Given the description of an element on the screen output the (x, y) to click on. 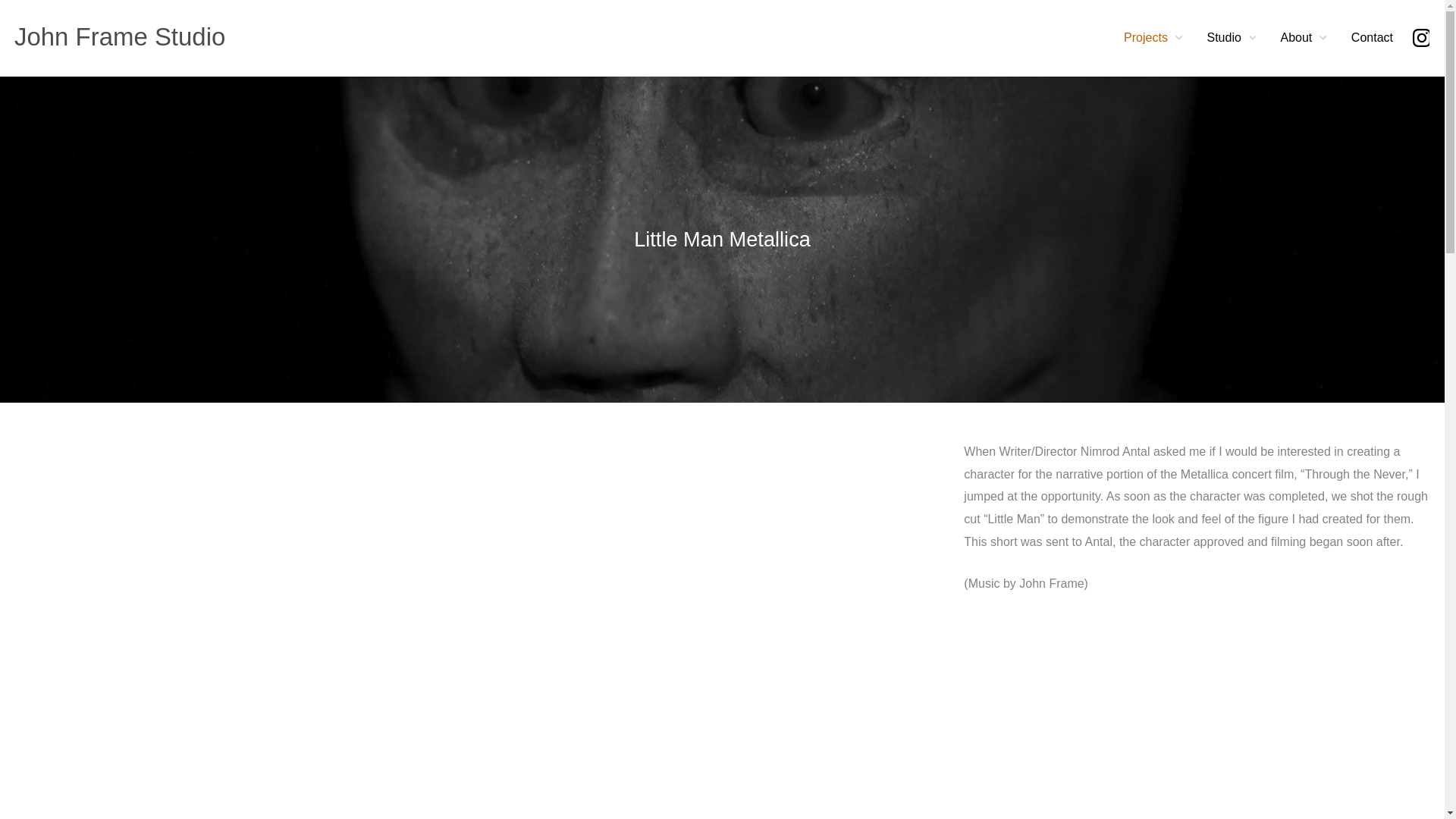
Projects (1152, 37)
About (1303, 37)
Studio (1230, 37)
John Frame Studio (116, 36)
